Given the description of an element on the screen output the (x, y) to click on. 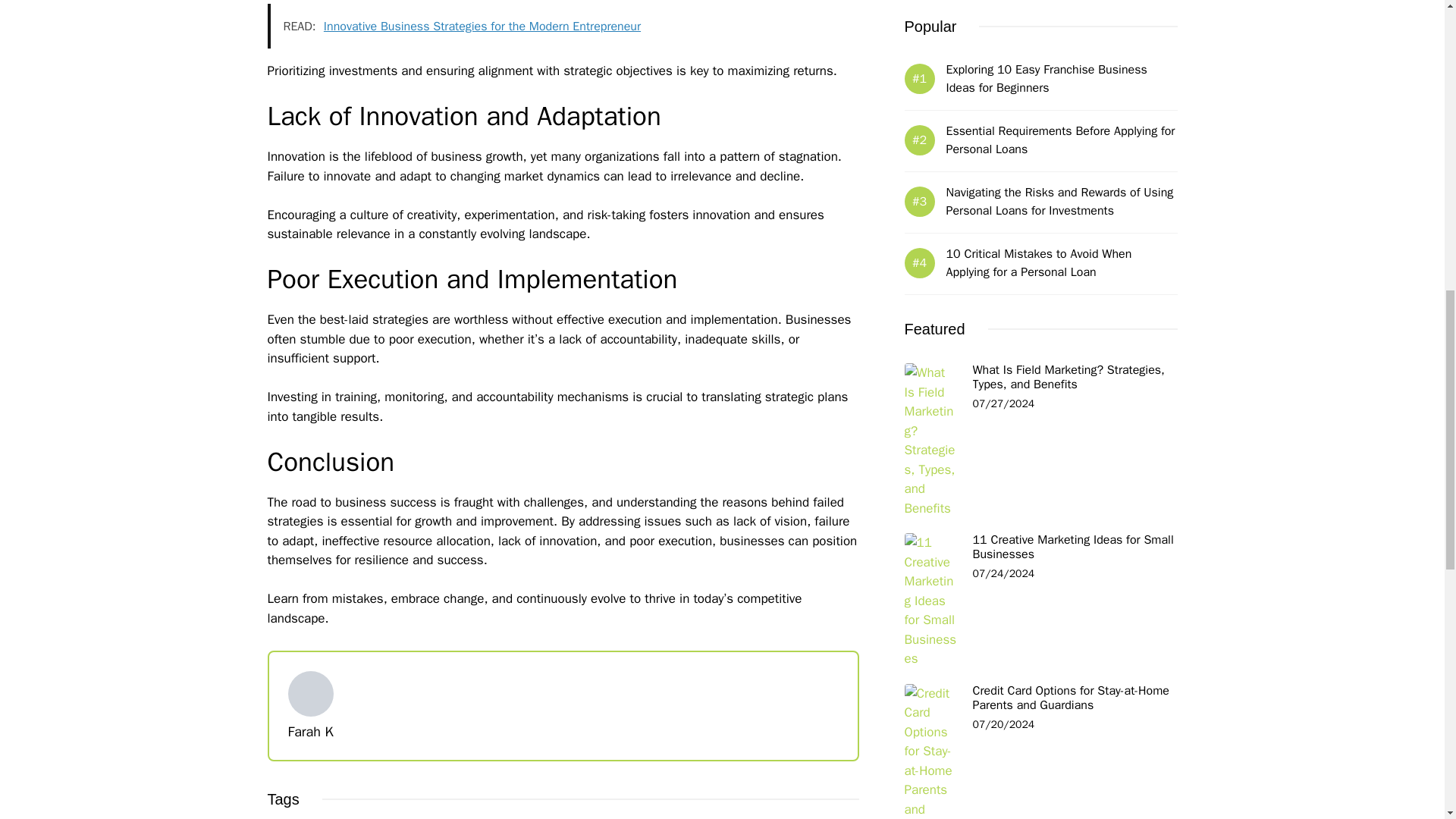
Farah K (310, 731)
